Given the description of an element on the screen output the (x, y) to click on. 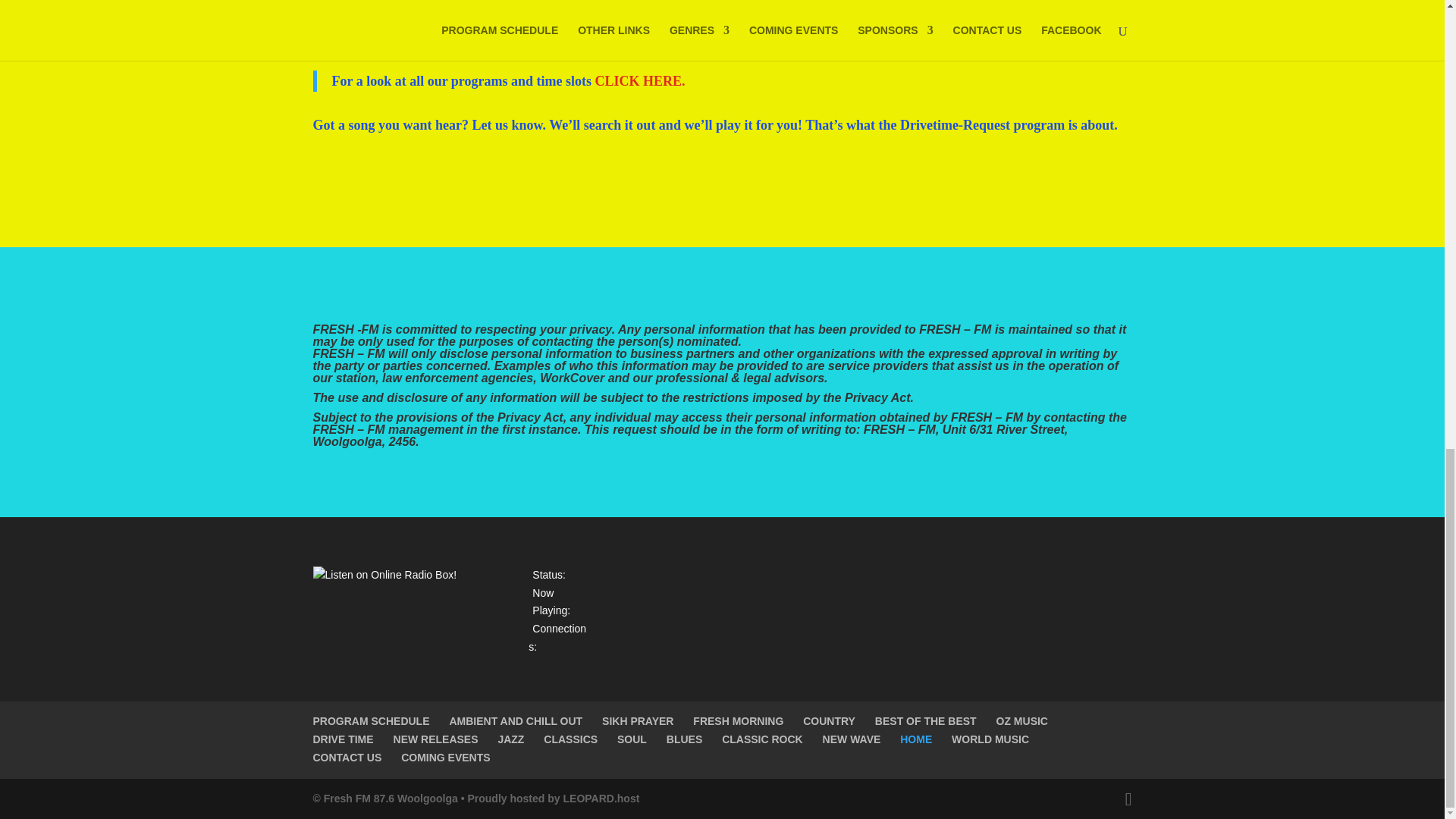
SOUL (631, 739)
OZ MUSIC (1021, 720)
BEST OF THE BEST (925, 720)
DRIVE TIME (342, 739)
PROGRAM SCHEDULE (371, 720)
NEW RELEASES (436, 739)
COUNTRY (829, 720)
SIKH PRAYER (637, 720)
FRESH MORNING (738, 720)
AMBIENT AND CHILL OUT (515, 720)
